Given the description of an element on the screen output the (x, y) to click on. 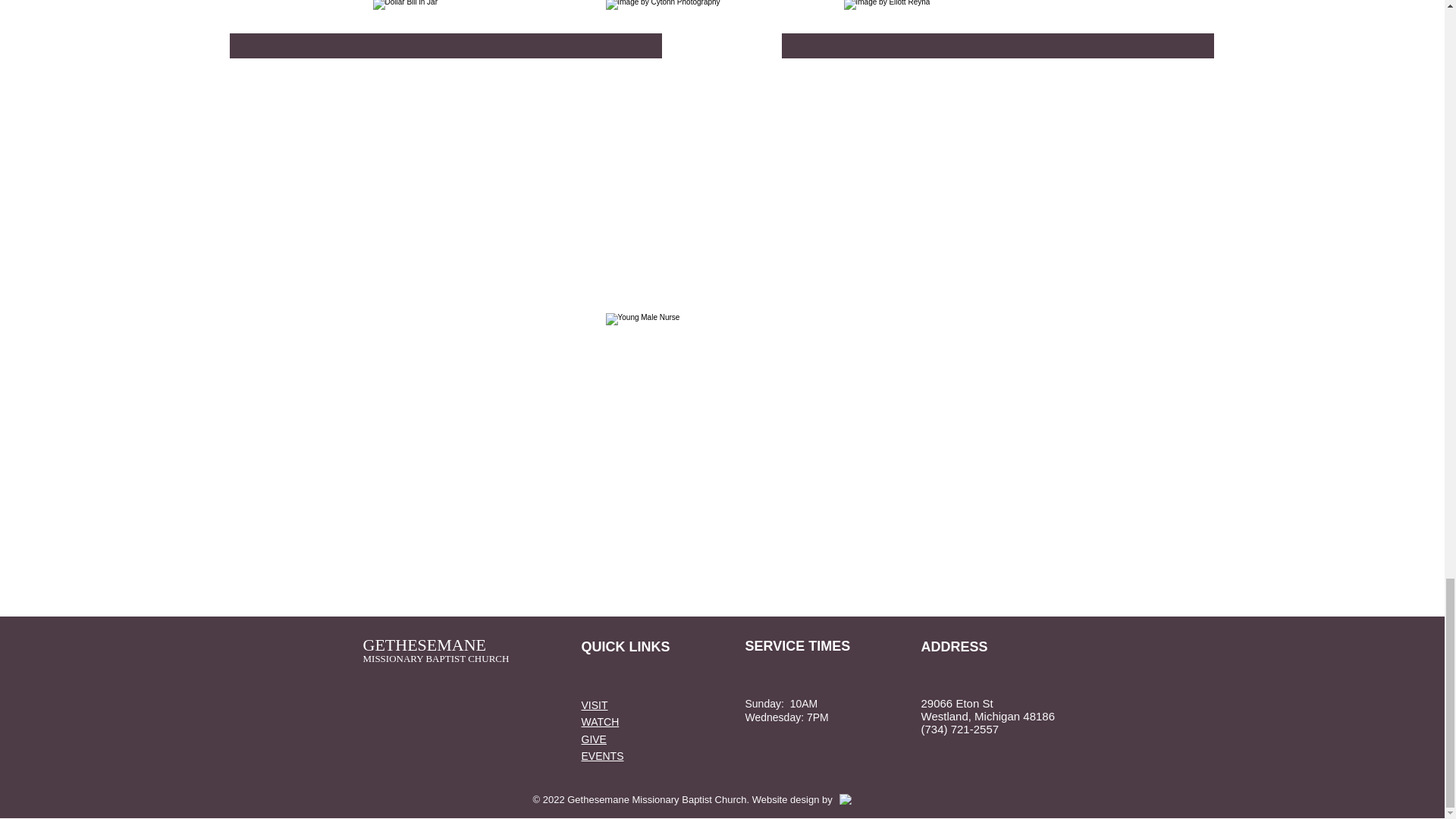
VISIT (593, 705)
GIVE (592, 739)
EVENTS (601, 756)
WATCH (599, 721)
